Given the description of an element on the screen output the (x, y) to click on. 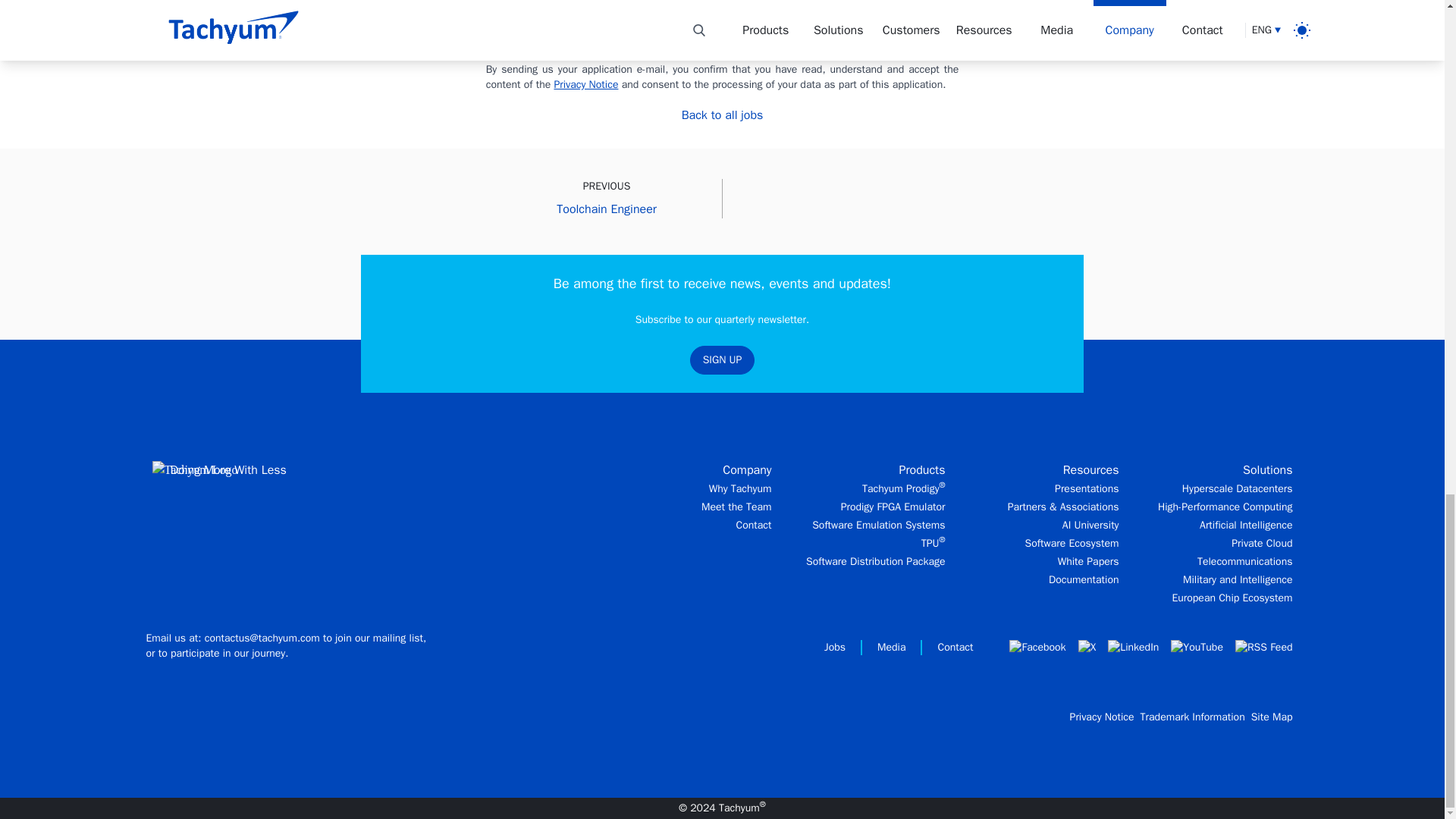
Facebook (1037, 647)
YouTube (1196, 647)
LinkedIn (1133, 647)
X (1087, 647)
RSS Feed (1263, 647)
